Given the description of an element on the screen output the (x, y) to click on. 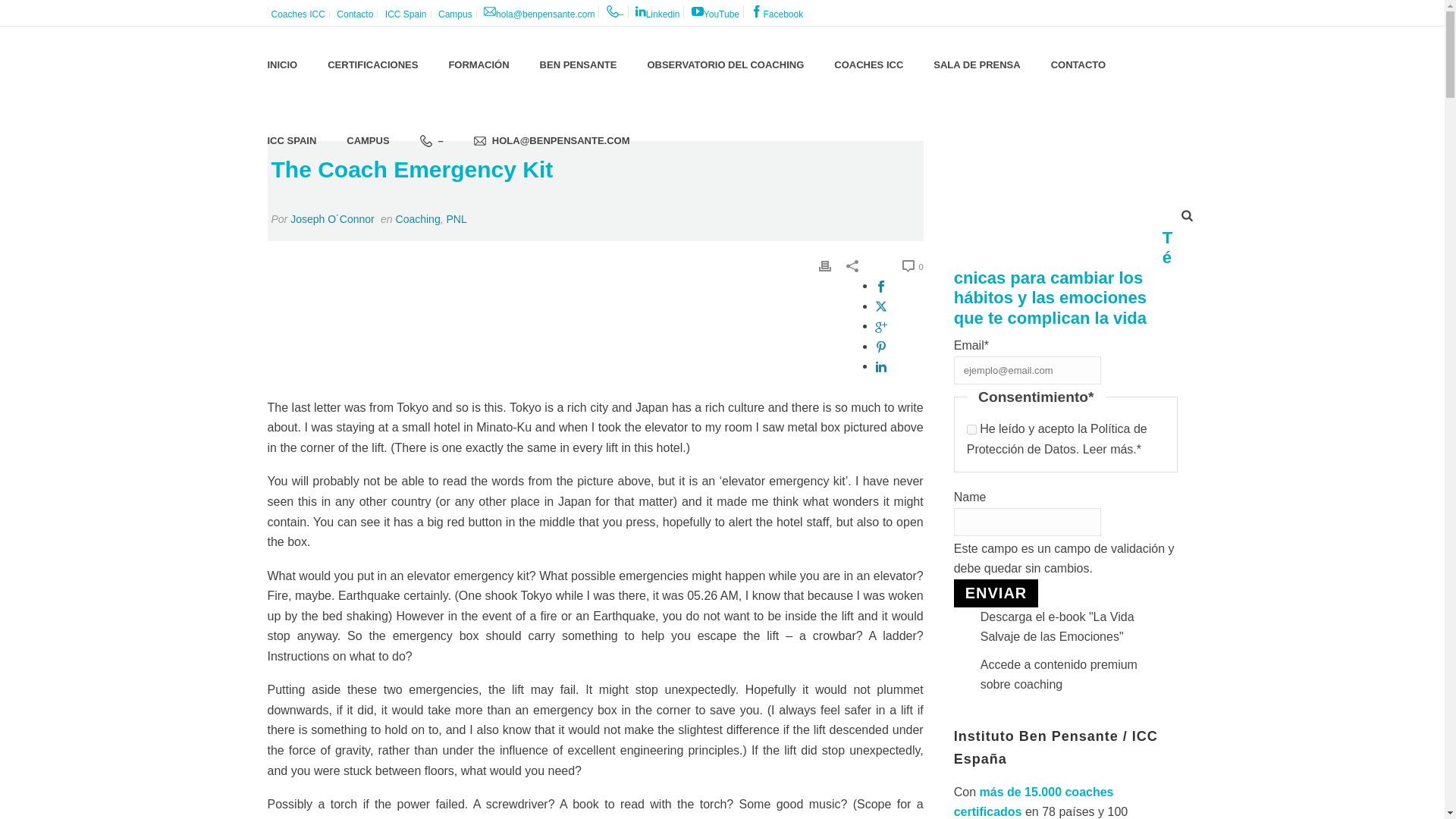
INICIO (282, 65)
Campus (455, 14)
INICIO (282, 65)
OBSERVATORIO DEL COACHING (724, 65)
SALA DE PRENSA (976, 65)
YouTube (715, 11)
Linkedin (657, 11)
ICC SPAIN (291, 140)
CERTIFICACIONES (372, 65)
ICC SPAIN (291, 140)
